Given the description of an element on the screen output the (x, y) to click on. 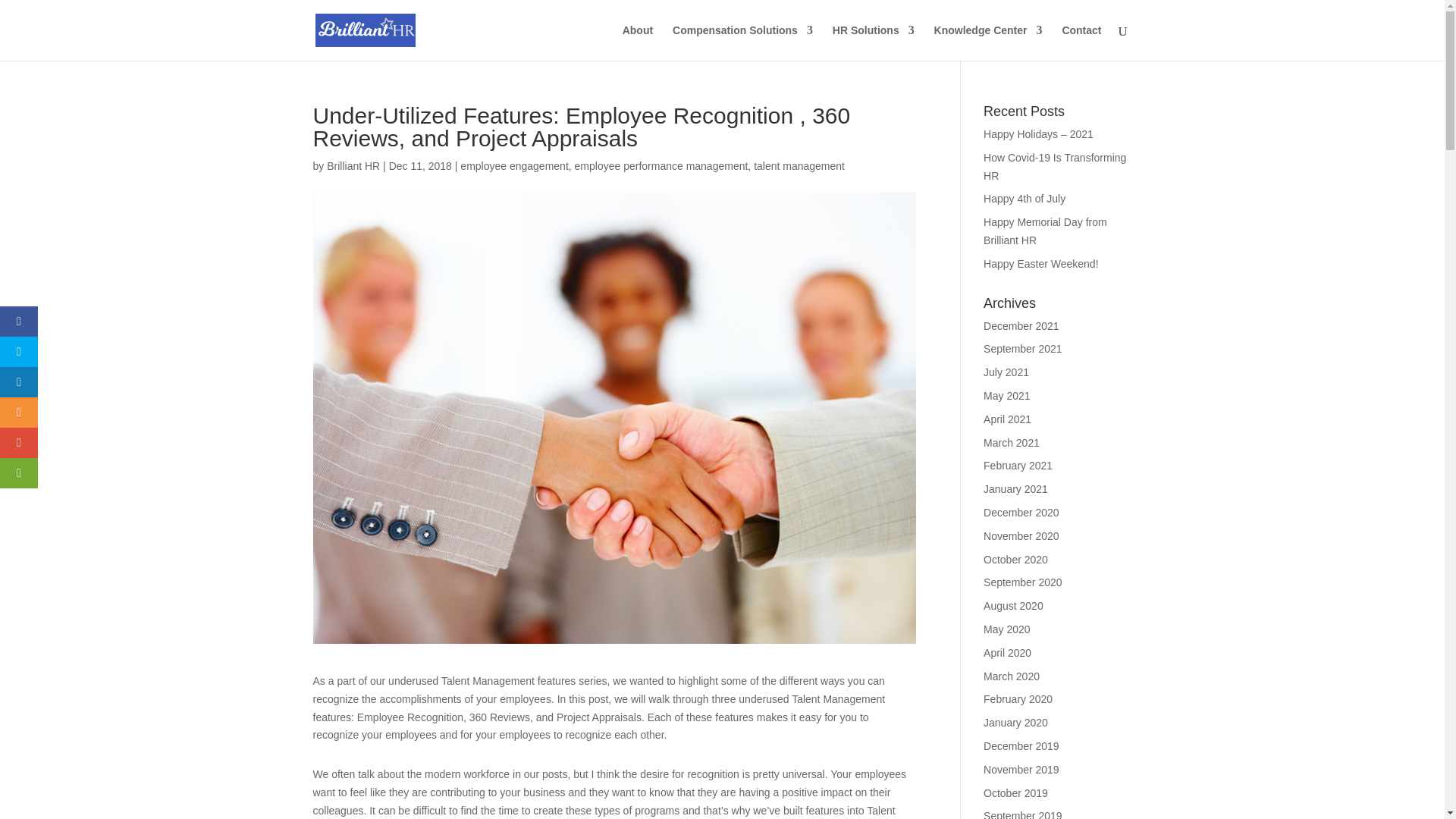
Happy Memorial Day from Brilliant HR (1045, 231)
Brilliant HR (353, 165)
talent management (799, 165)
December 2021 (1021, 326)
Happy 4th of July (1024, 198)
Compensation Solutions (742, 42)
employee performance management (661, 165)
Contact (1080, 42)
employee engagement (513, 165)
Knowledge Center (988, 42)
